Given the description of an element on the screen output the (x, y) to click on. 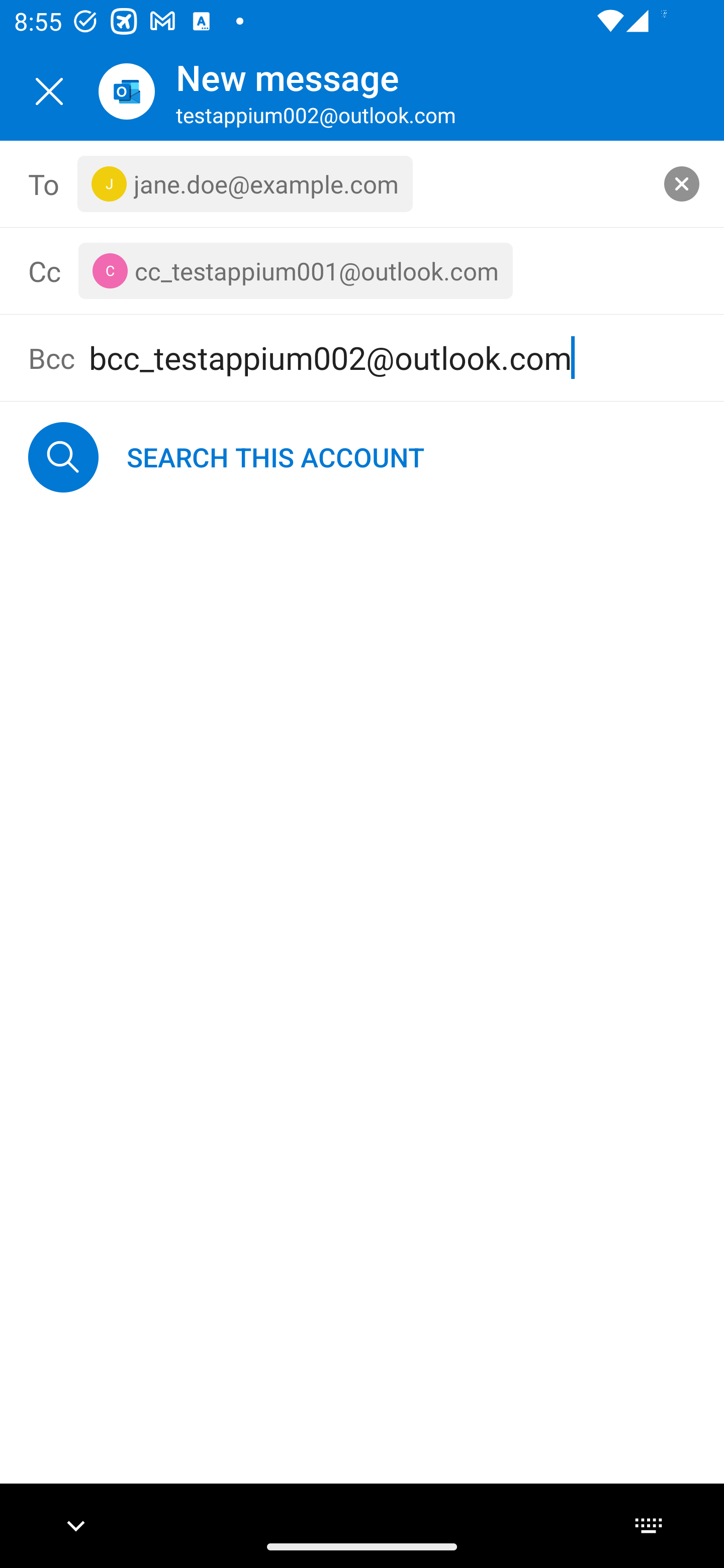
Close (49, 91)
To, 1 recipient <jane.doe@example.com> (362, 184)
clear search (681, 183)
Cc, 1 recipient <cc_testappium001@outlook.com> (384, 270)
bcc_testappium002@outlook.com (392, 358)
